Given the description of an element on the screen output the (x, y) to click on. 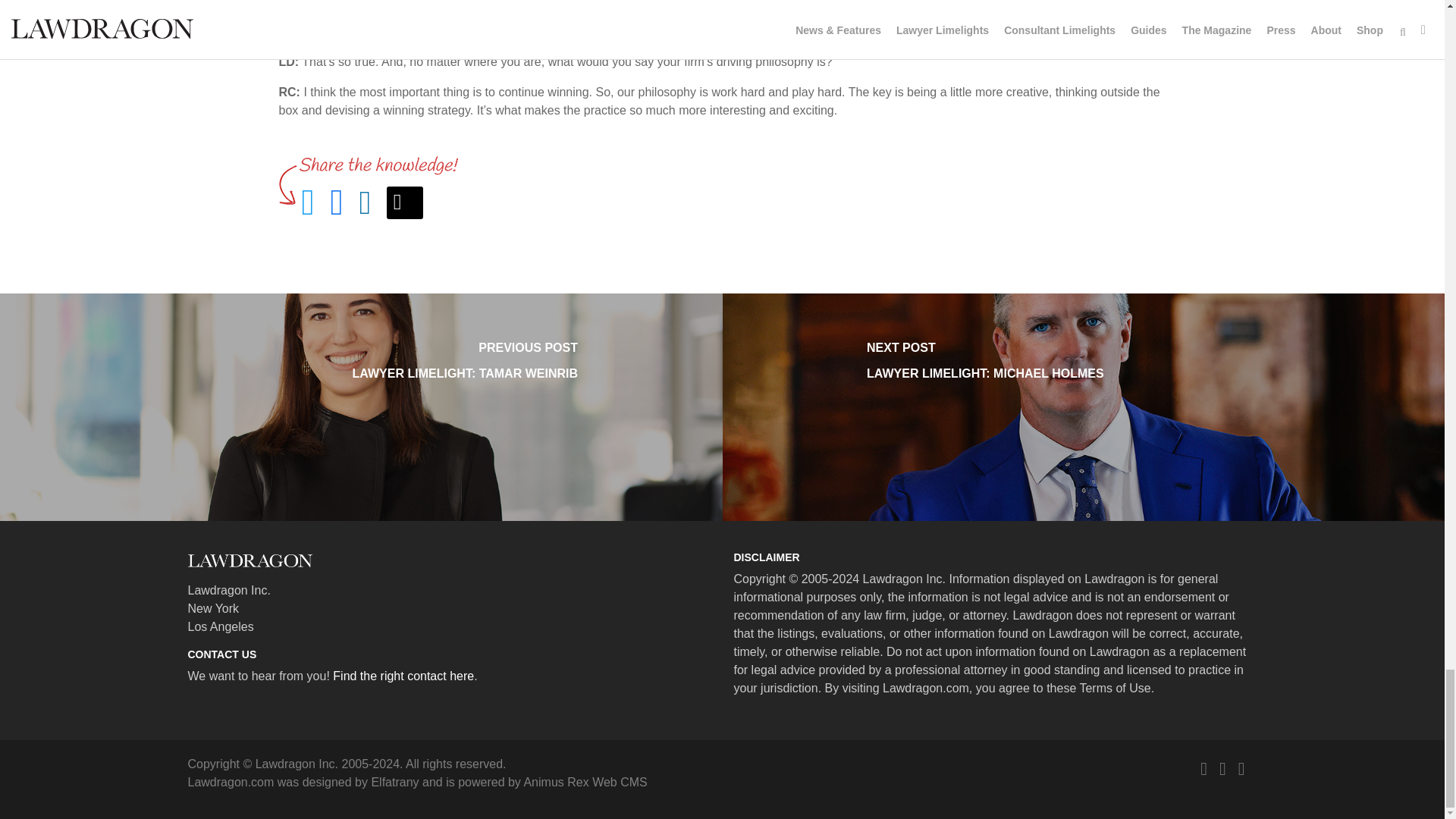
Animus Rex Web CMS (395, 781)
Email (584, 781)
Find the right contact here (405, 202)
